Given the description of an element on the screen output the (x, y) to click on. 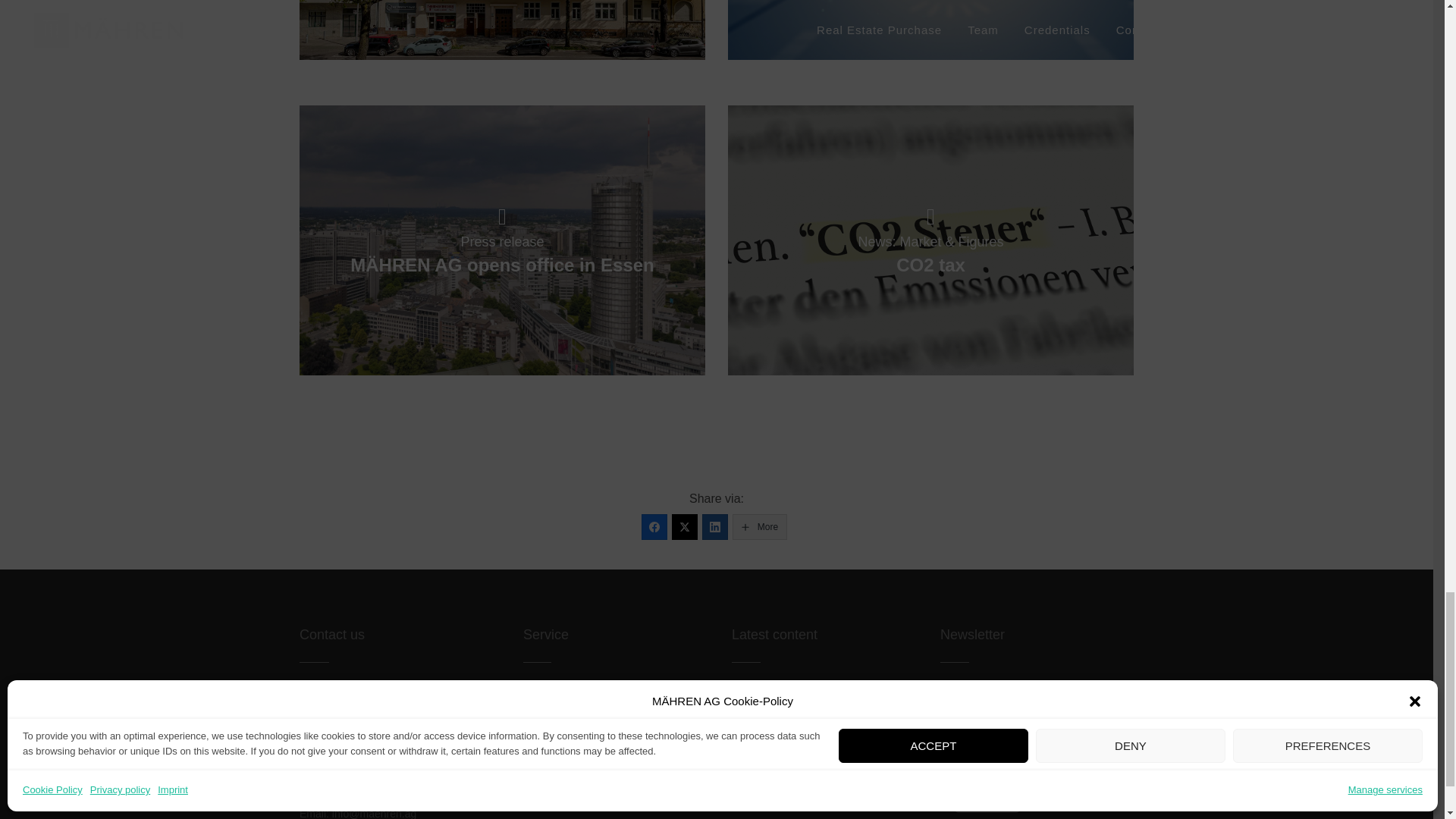
Artificial Intelligence (931, 29)
CO2 tax (931, 240)
